Given the description of an element on the screen output the (x, y) to click on. 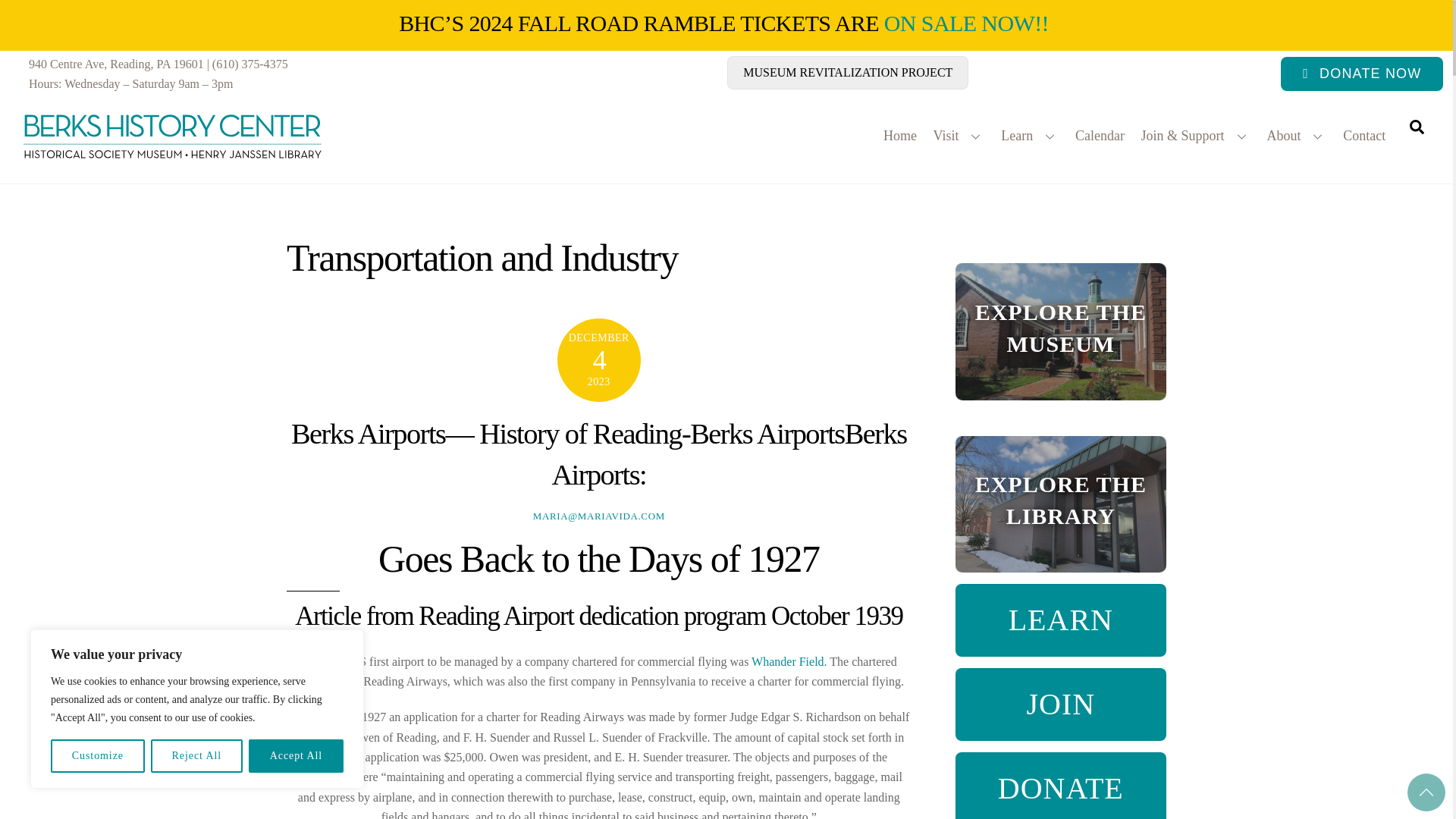
Explore the Museum (1060, 331)
940 Centre Ave, Reading, PA 19601 (116, 63)
DONATE NOW (1361, 73)
Customize (97, 756)
Learn (1029, 135)
Search (1416, 125)
Berks History Center (172, 163)
Explore the Library (1060, 504)
MUSEUM REVITALIZATION PROJECT (847, 72)
Reject All (197, 756)
